Given the description of an element on the screen output the (x, y) to click on. 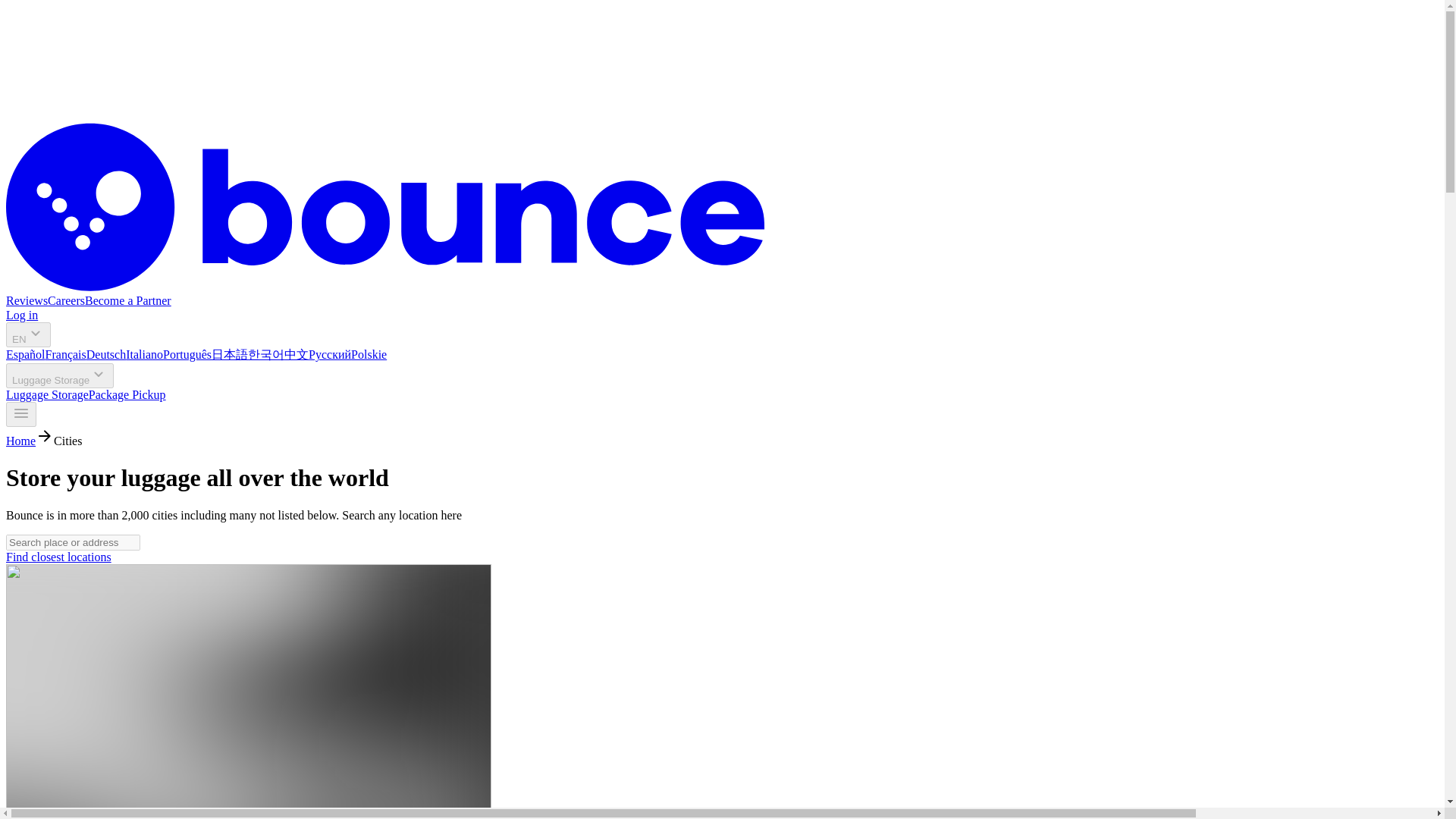
Log in (21, 314)
Italiano (144, 354)
Package Pickup (126, 394)
Become a Partner (127, 300)
Bounce (384, 286)
Careers (66, 300)
EN (27, 334)
Luggage Storage (59, 375)
Luggage Storage (46, 394)
Deutsch (105, 354)
